Given the description of an element on the screen output the (x, y) to click on. 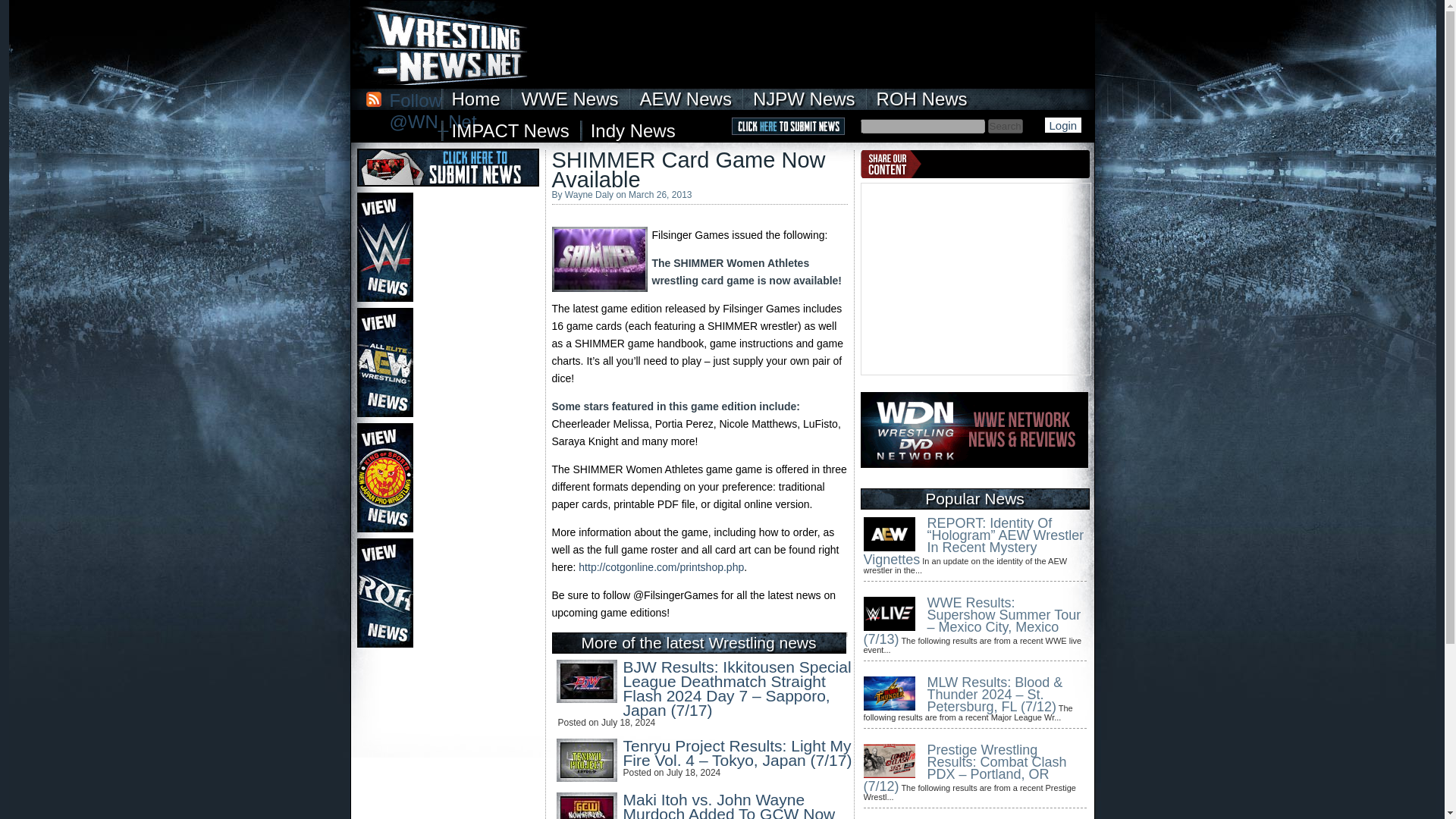
Login (1063, 124)
AEW News (685, 98)
NJPW News (804, 98)
Login (1063, 124)
ROH News (922, 98)
Home (476, 98)
Search (1004, 125)
Indy News (632, 130)
Search (1004, 125)
IMPACT News (510, 130)
WWE News (569, 98)
